Given the description of an element on the screen output the (x, y) to click on. 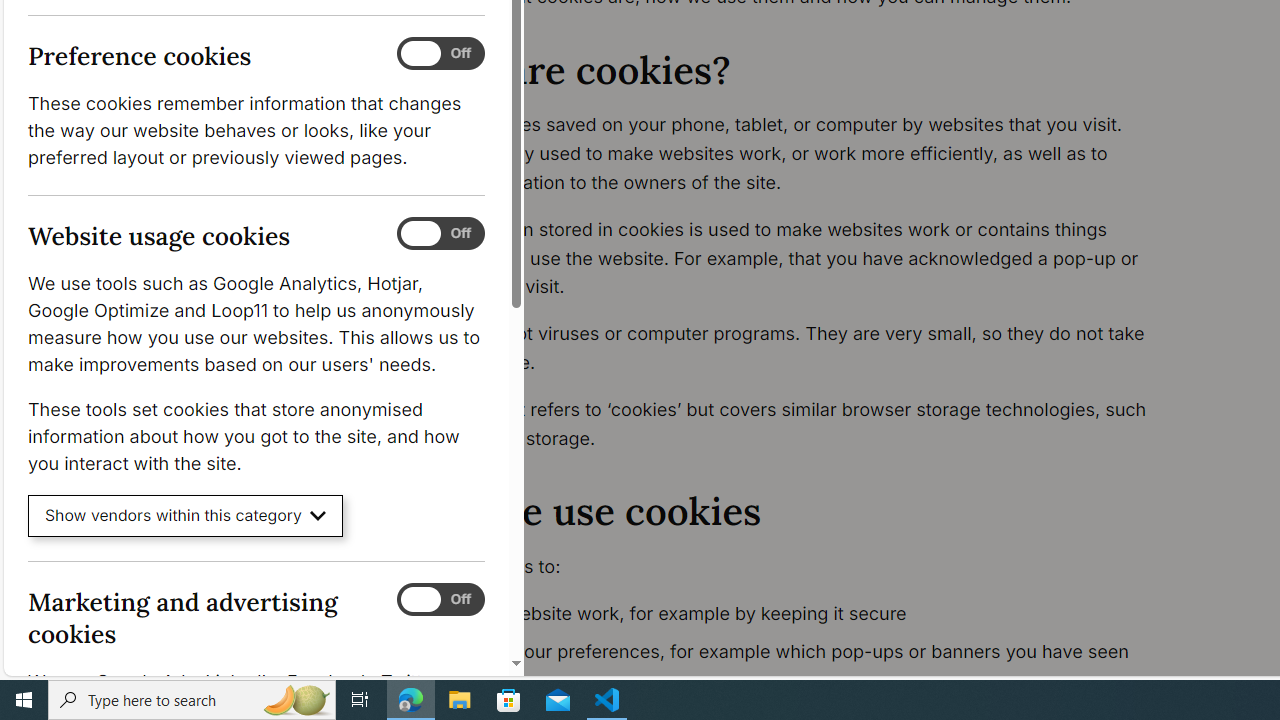
make our website work, for example by keeping it secure (796, 614)
Show vendors within this category (185, 516)
Preference cookies (440, 53)
Website usage cookies (440, 233)
Marketing and advertising cookies (440, 599)
